Given the description of an element on the screen output the (x, y) to click on. 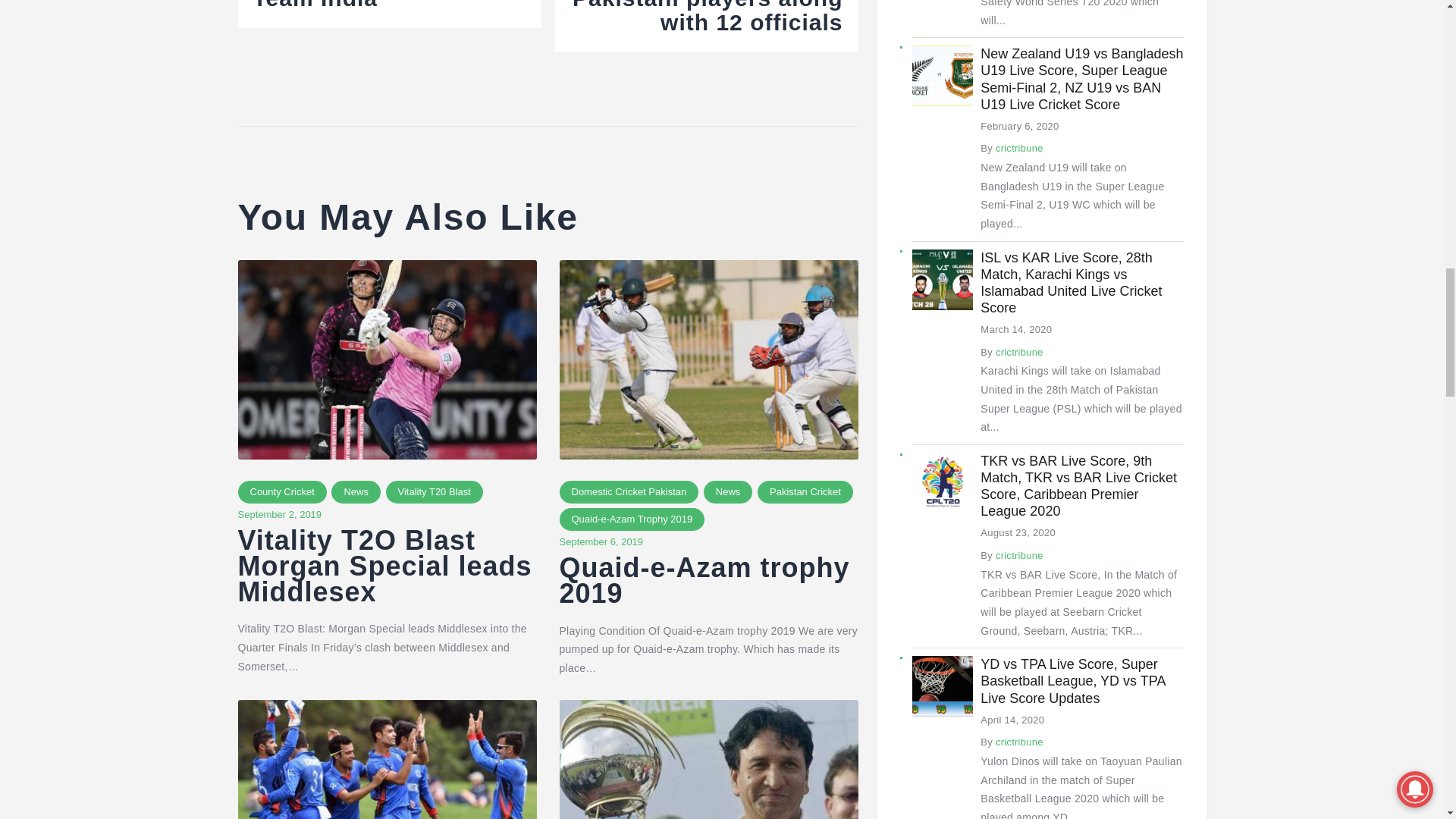
U-19 Asia cup Pakistan vs Afghanistan 5 (387, 759)
Quaid-e-Azam trophy 2019 4 (709, 359)
Late Abdul Qadir Khan from 1955-2019 6 (709, 759)
Vitality T2O Blast Morgan Special leads Middlesex 3 (387, 359)
